Given the description of an element on the screen output the (x, y) to click on. 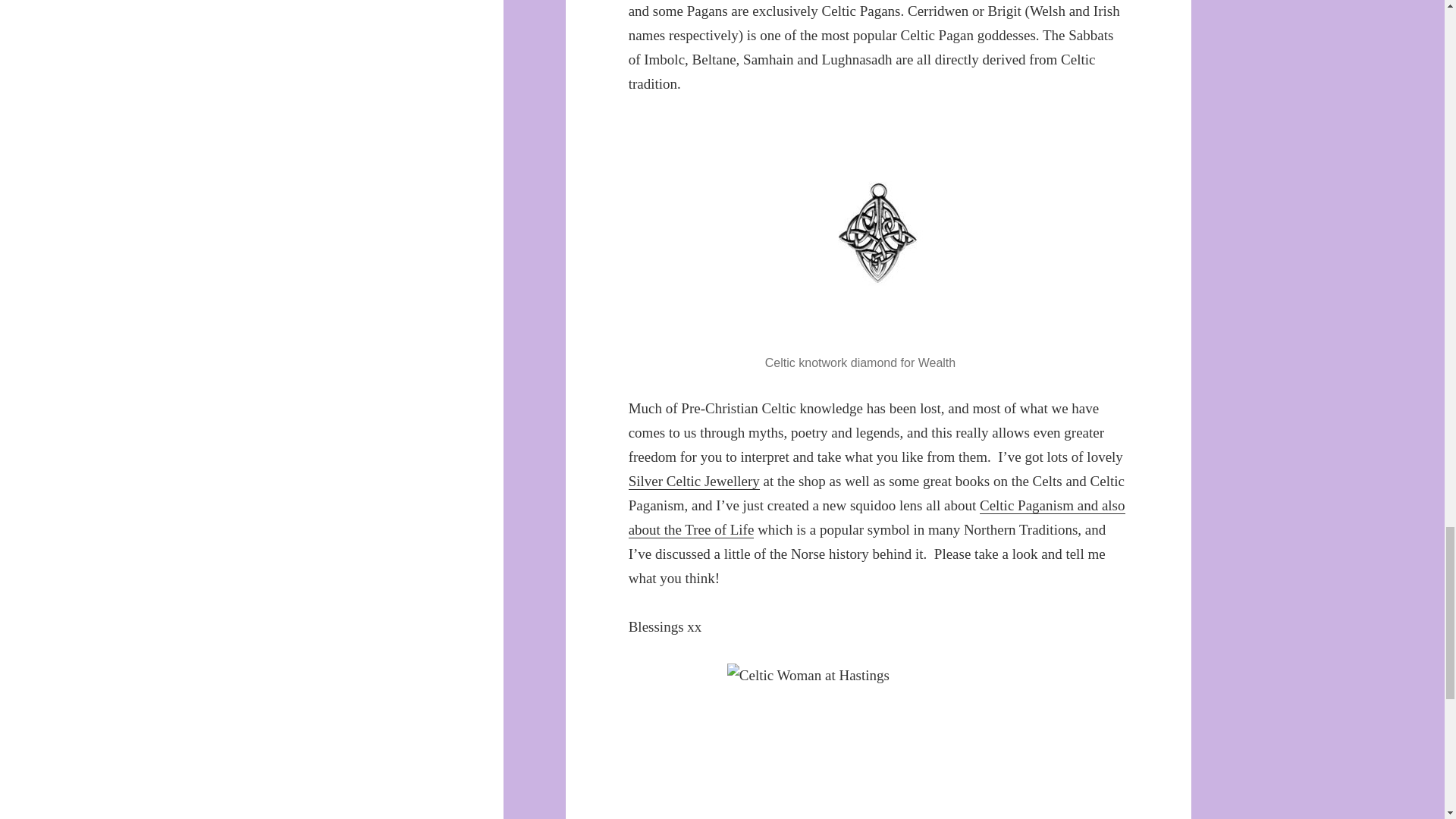
Silver Celtic Jewellery (694, 481)
celtic-knotwork-diamond-for-wealth (878, 234)
Celtic Paganism (876, 517)
Celtic Woman at Hastings (878, 741)
